Given the description of an element on the screen output the (x, y) to click on. 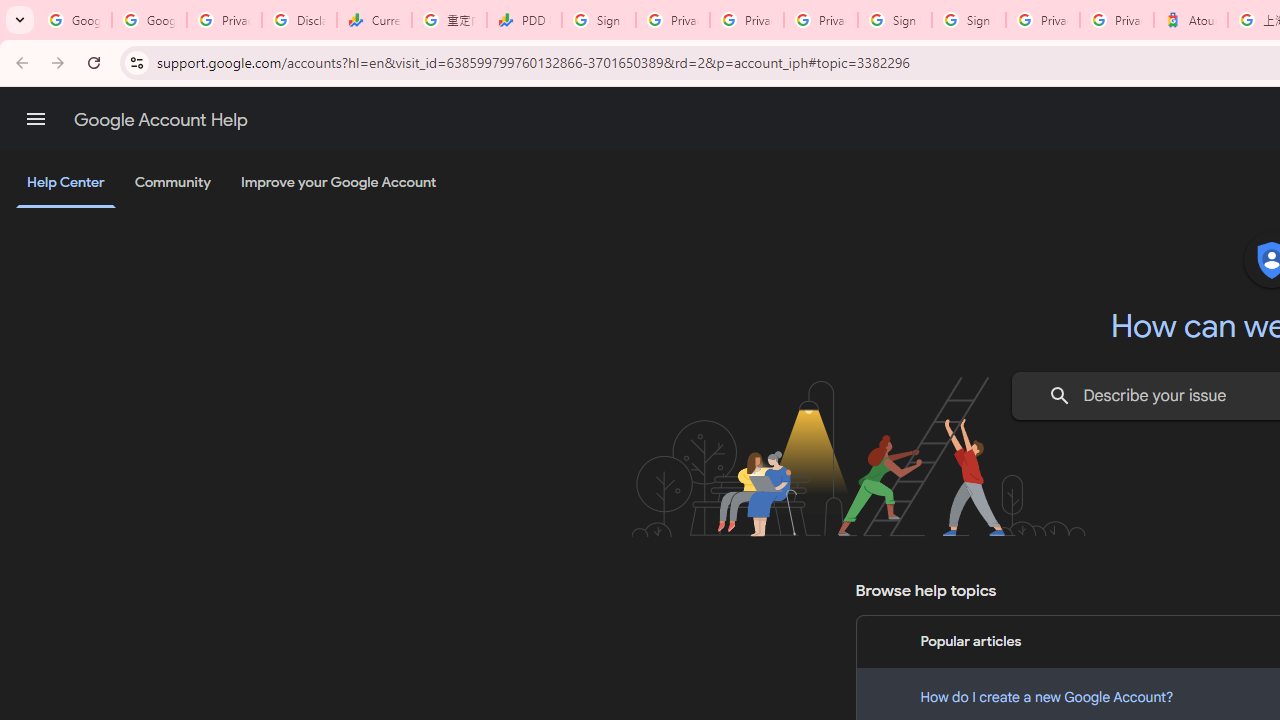
Privacy Checkup (820, 20)
